Given the description of an element on the screen output the (x, y) to click on. 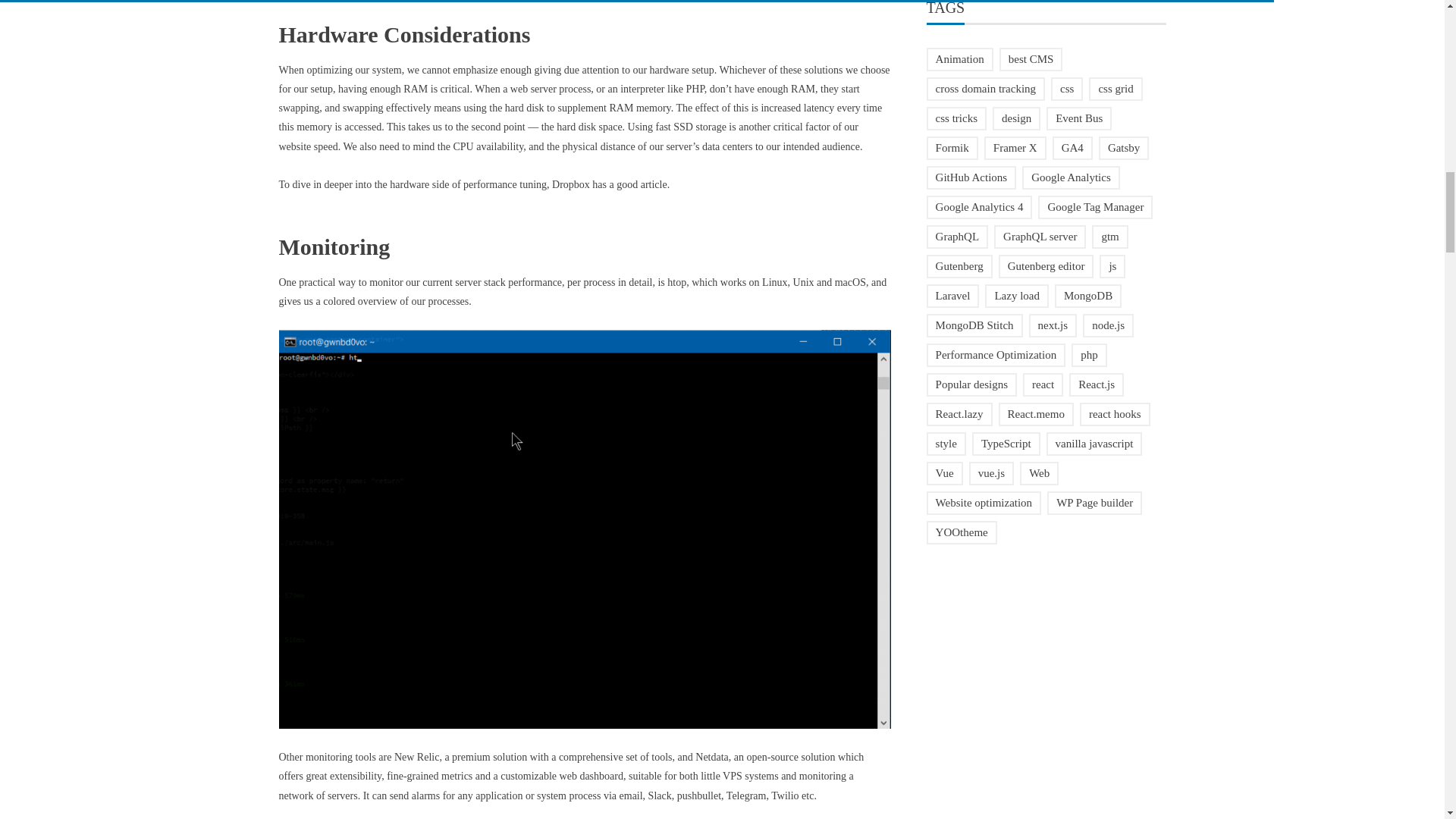
Netdata (712, 756)
New Relic (416, 756)
htop (675, 282)
Dropbox has a good article (608, 184)
